Given the description of an element on the screen output the (x, y) to click on. 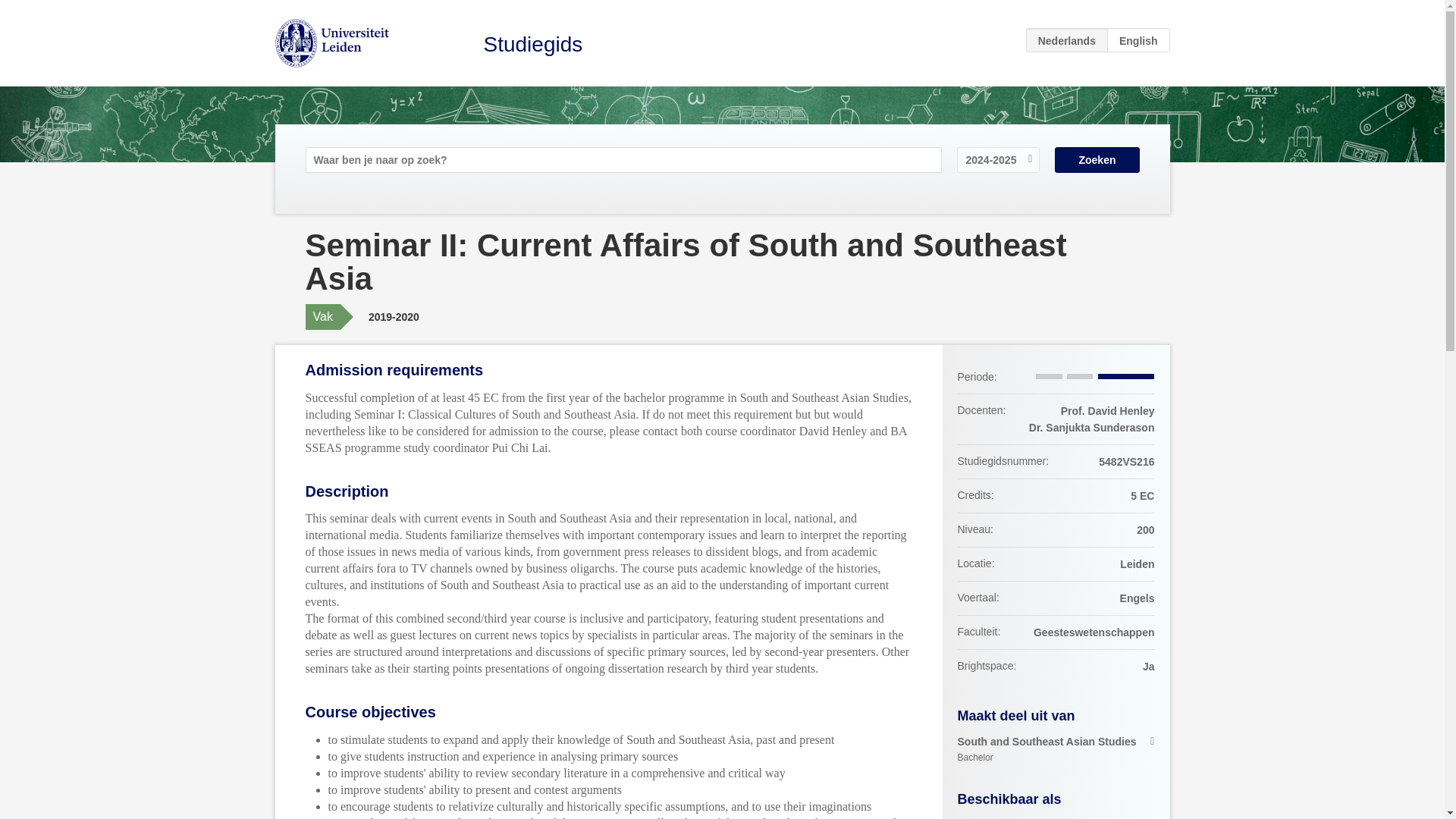
Zoeken (1096, 159)
Studiegids (533, 44)
EN (1055, 749)
